Given the description of an element on the screen output the (x, y) to click on. 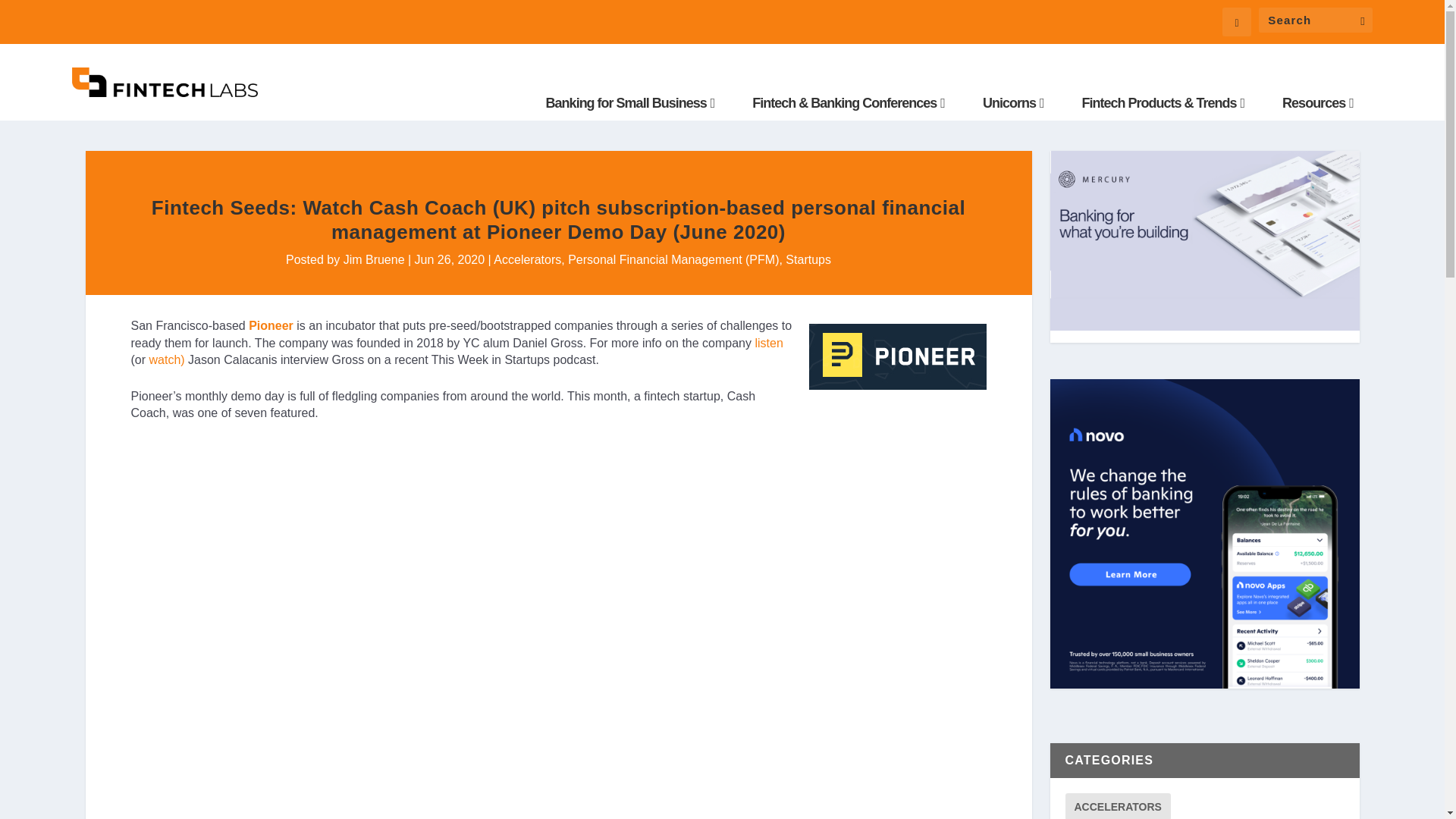
Banking for Small Business (630, 103)
Search for: (1316, 19)
Resources (1318, 103)
Unicorns (1013, 103)
Posts by Jim Bruene (373, 259)
